Given the description of an element on the screen output the (x, y) to click on. 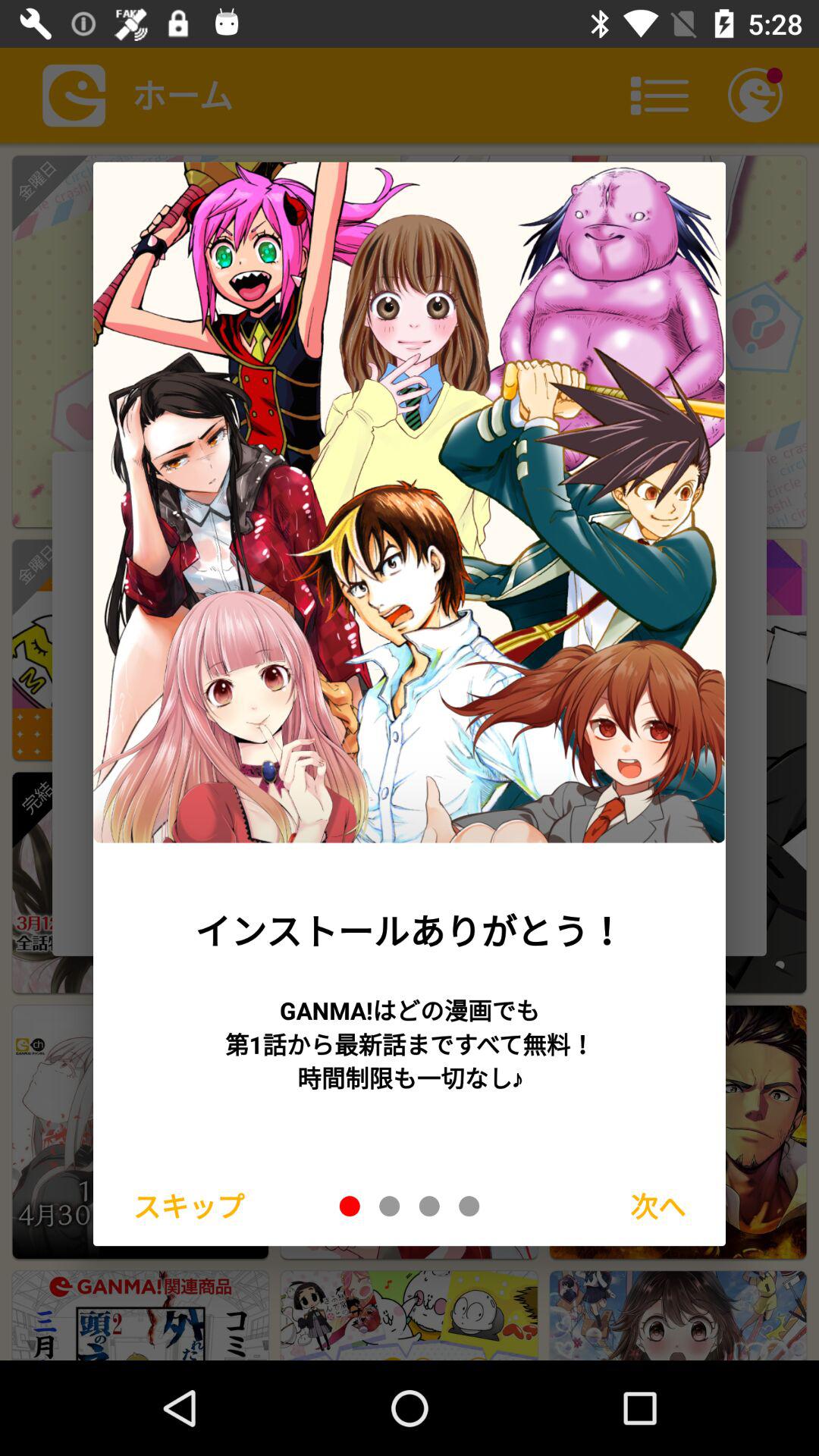
go to fourth slide (469, 1206)
